Given the description of an element on the screen output the (x, y) to click on. 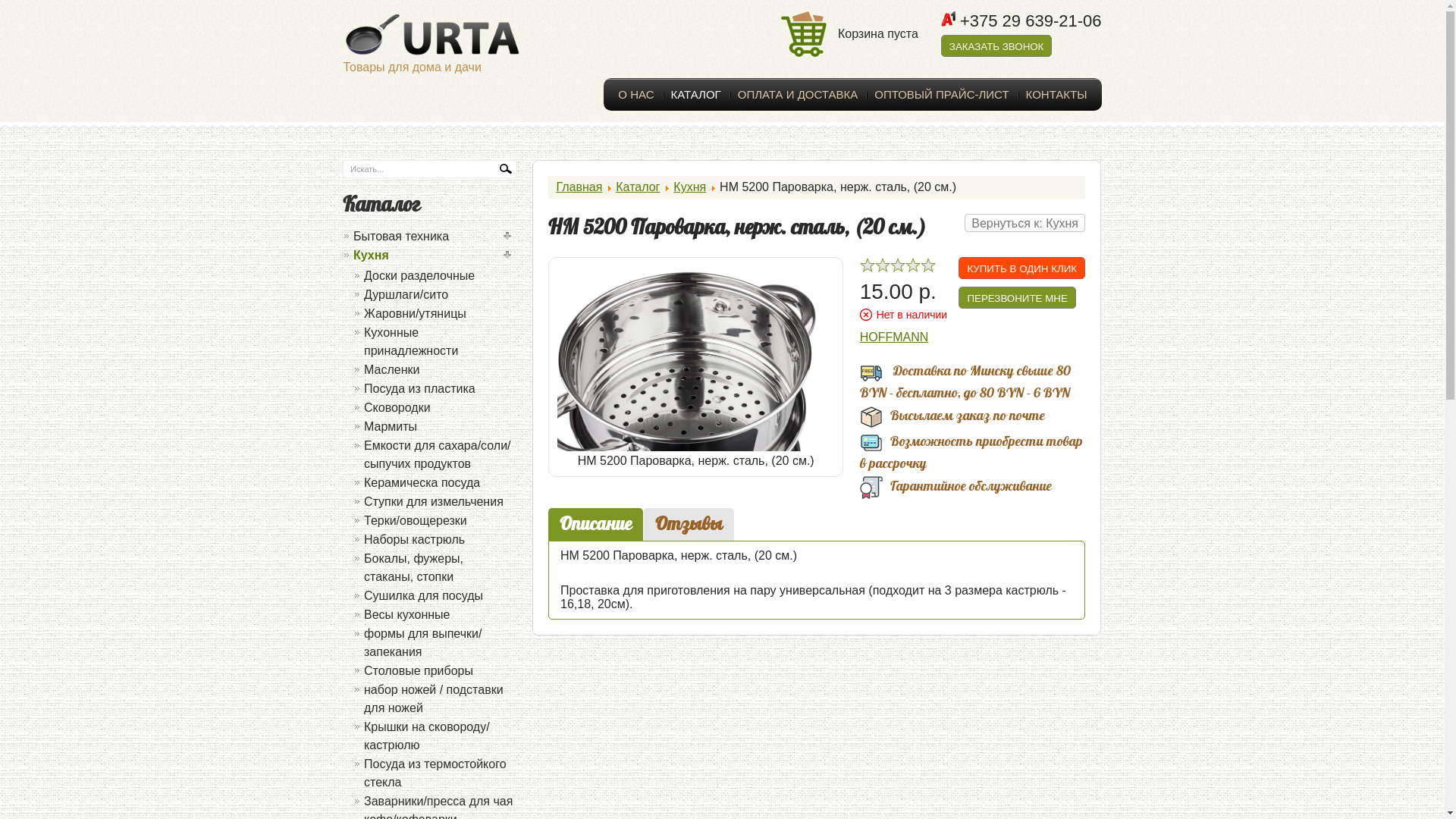
HOFFMANN Element type: text (893, 336)
